Given the description of an element on the screen output the (x, y) to click on. 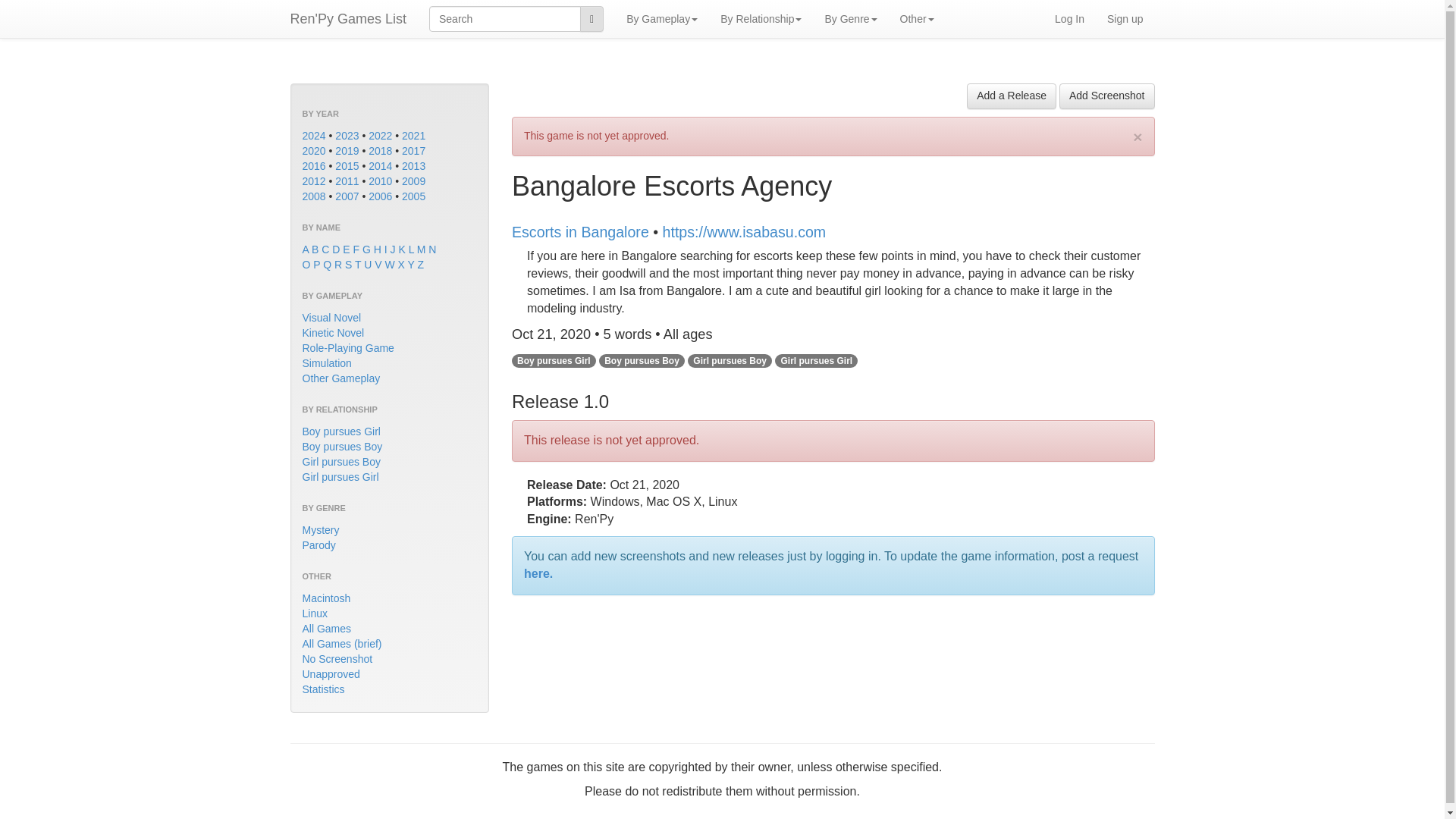
2016 (312, 165)
Log In (1069, 18)
2014 (379, 165)
By Relationship (760, 18)
2020 (312, 150)
2012 (312, 181)
2017 (413, 150)
2015 (346, 165)
2019 (346, 150)
2018 (379, 150)
2023 (346, 135)
2013 (413, 165)
Ren'Py Games List (349, 18)
Other (916, 18)
Sign up (1125, 18)
